Given the description of an element on the screen output the (x, y) to click on. 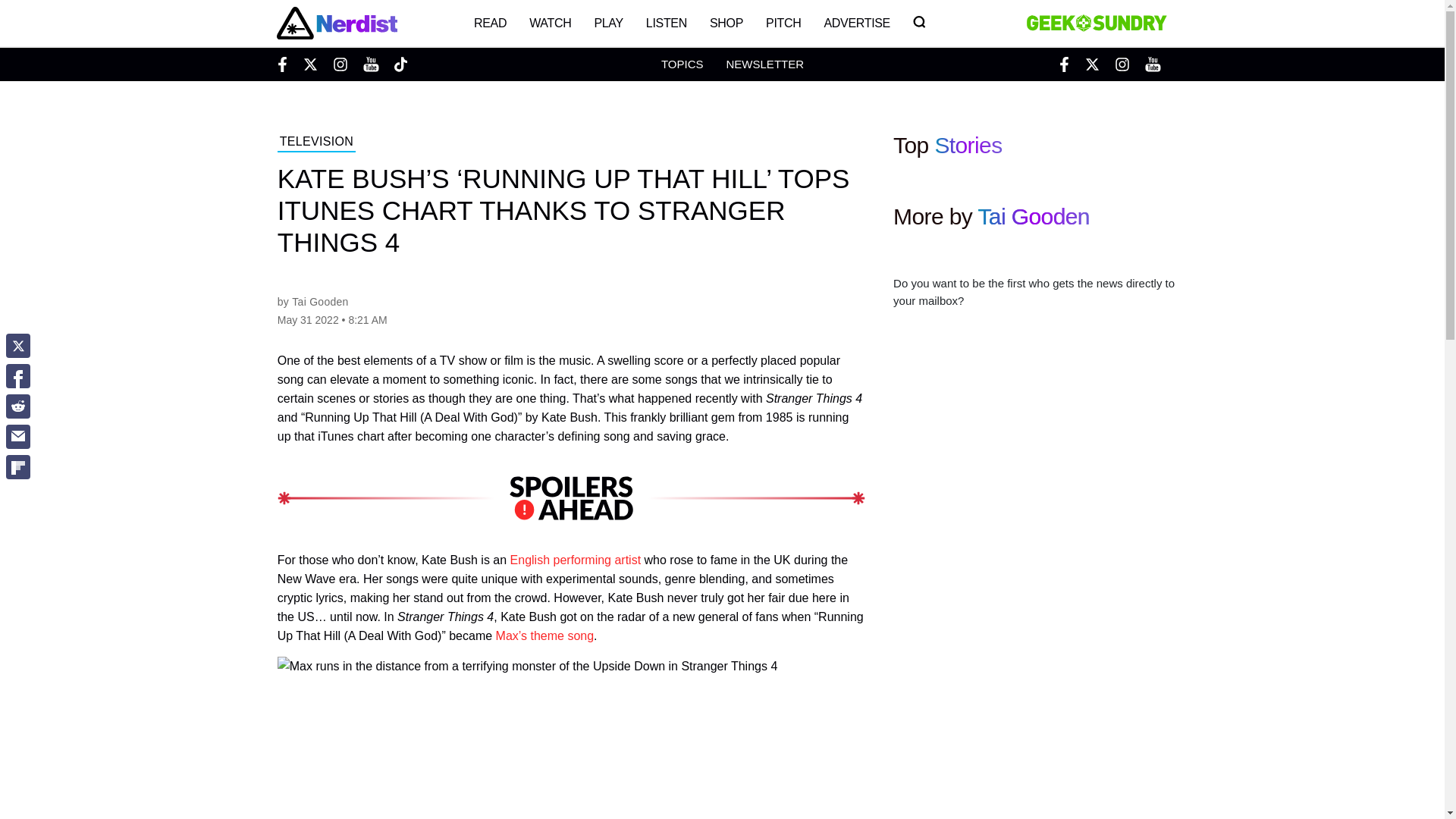
Facebook Nerdist (285, 63)
Twitter Nerdist (309, 63)
PLAY (607, 22)
Tai Gooden (1032, 216)
TELEVISION (316, 143)
SHOP (726, 22)
LISTEN (666, 22)
Instagram Nerdist (339, 63)
English performing artist (576, 559)
Facebook Geek and Sundry (1064, 63)
WATCH (550, 22)
TOPICS (681, 63)
SHOP (726, 22)
Topics (681, 63)
NEWSLETTER (764, 63)
